Given the description of an element on the screen output the (x, y) to click on. 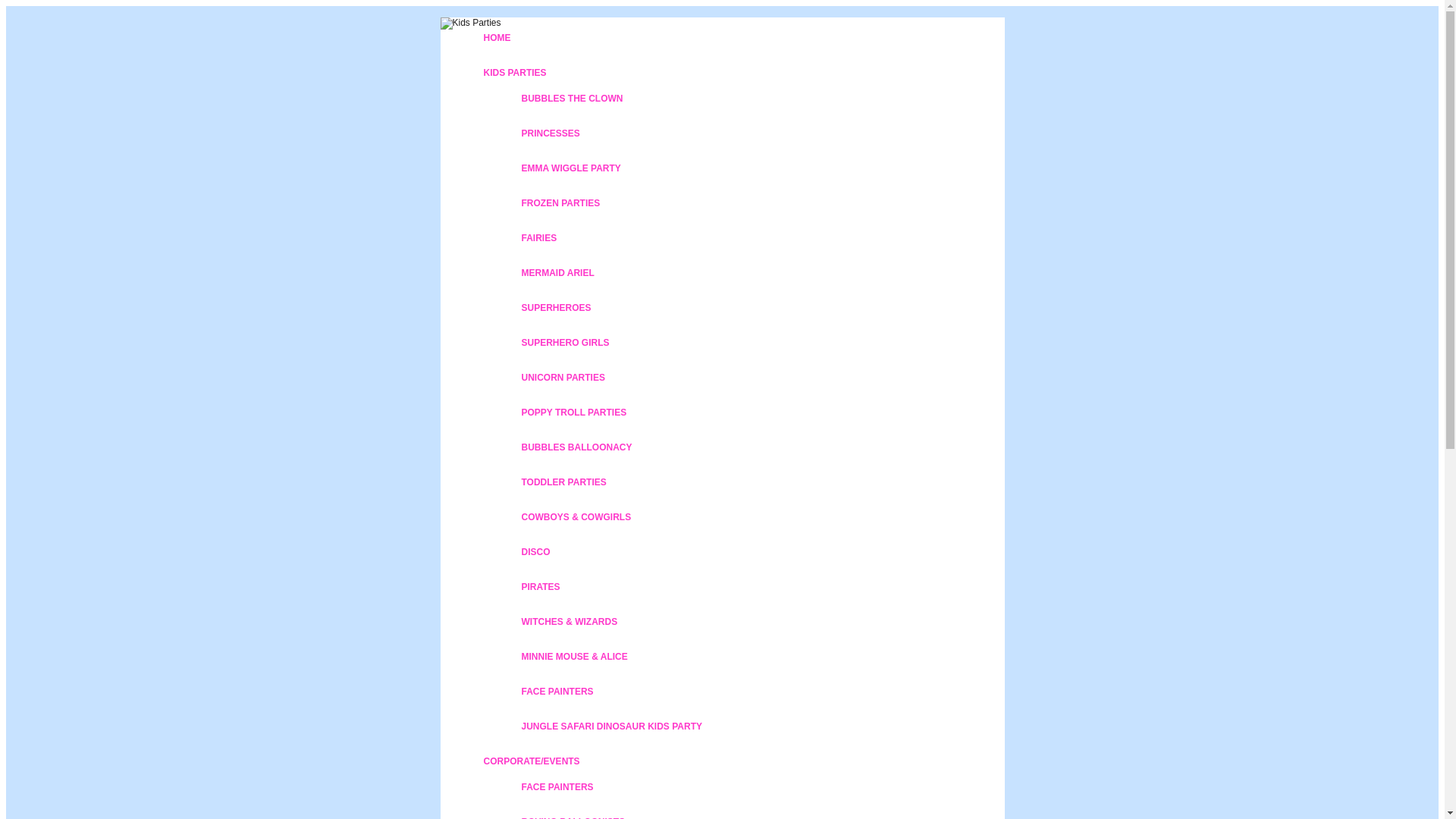
KIDS PARTIES Element type: text (514, 72)
BUBBLES THE CLOWN Element type: text (571, 98)
SUPERHEROES Element type: text (555, 307)
CORPORATE/EVENTS Element type: text (530, 761)
UNICORN PARTIES Element type: text (562, 377)
BUBBLES BALLOONACY Element type: text (576, 447)
MINNIE MOUSE & ALICE Element type: text (573, 656)
COWBOYS & COWGIRLS Element type: text (575, 516)
WITCHES & WIZARDS Element type: text (568, 621)
SUPERHERO GIRLS Element type: text (564, 342)
FAIRIES Element type: text (538, 237)
MERMAID ARIEL Element type: text (557, 272)
TODDLER PARTIES Element type: text (563, 481)
FACE PAINTERS Element type: text (556, 691)
POPPY TROLL PARTIES Element type: text (573, 412)
HOME Element type: text (496, 37)
JUNGLE SAFARI DINOSAUR KIDS PARTY Element type: text (610, 726)
PIRATES Element type: text (539, 586)
PRINCESSES Element type: text (549, 133)
DISCO Element type: text (535, 551)
FROZEN PARTIES Element type: text (560, 202)
FACE PAINTERS Element type: text (556, 786)
EMMA WIGGLE PARTY Element type: text (570, 168)
